Given the description of an element on the screen output the (x, y) to click on. 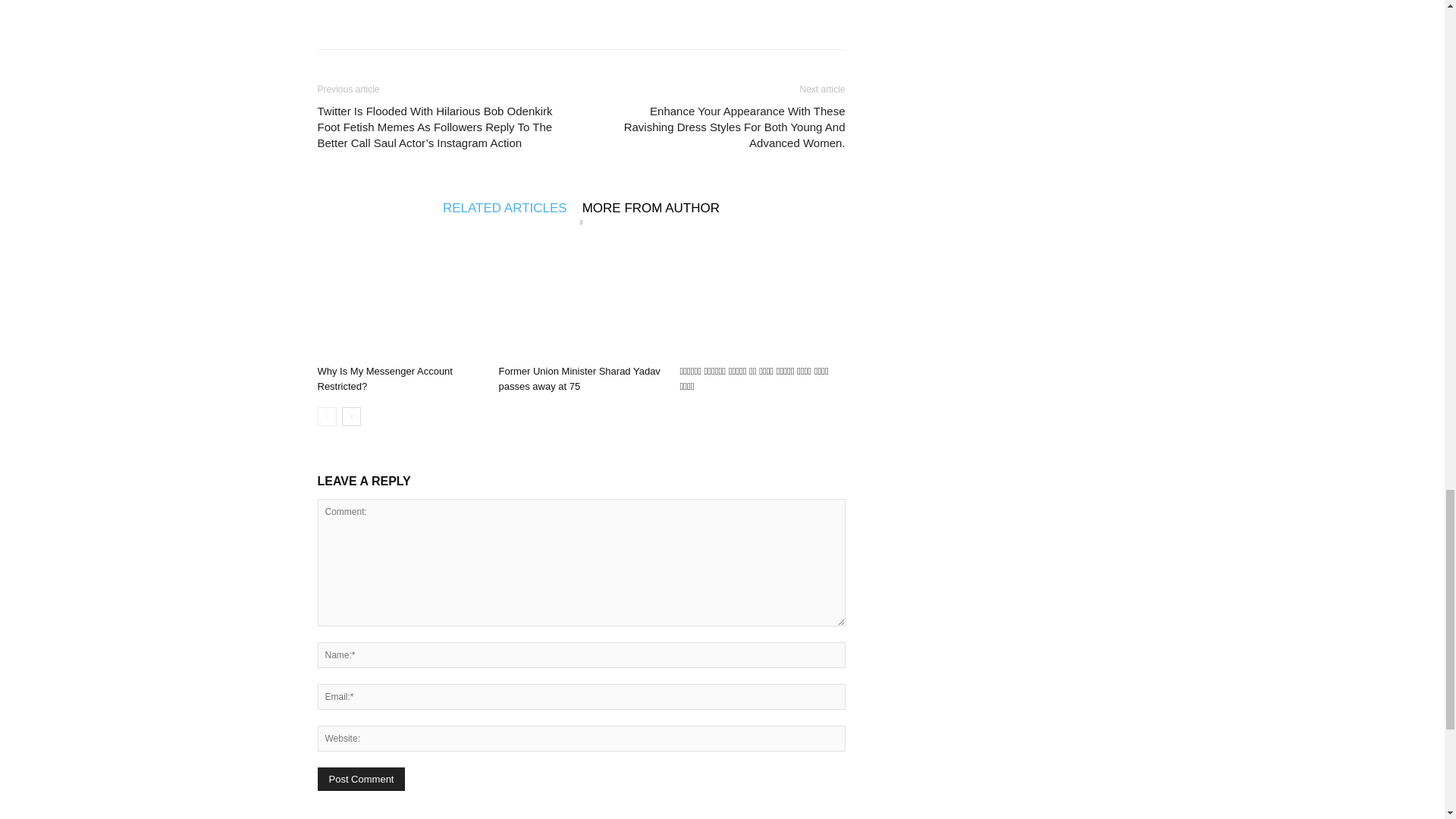
Post Comment (360, 779)
Why Is My Messenger Account Restricted? (399, 301)
Why Is My Messenger Account Restricted? (384, 378)
